Given the description of an element on the screen output the (x, y) to click on. 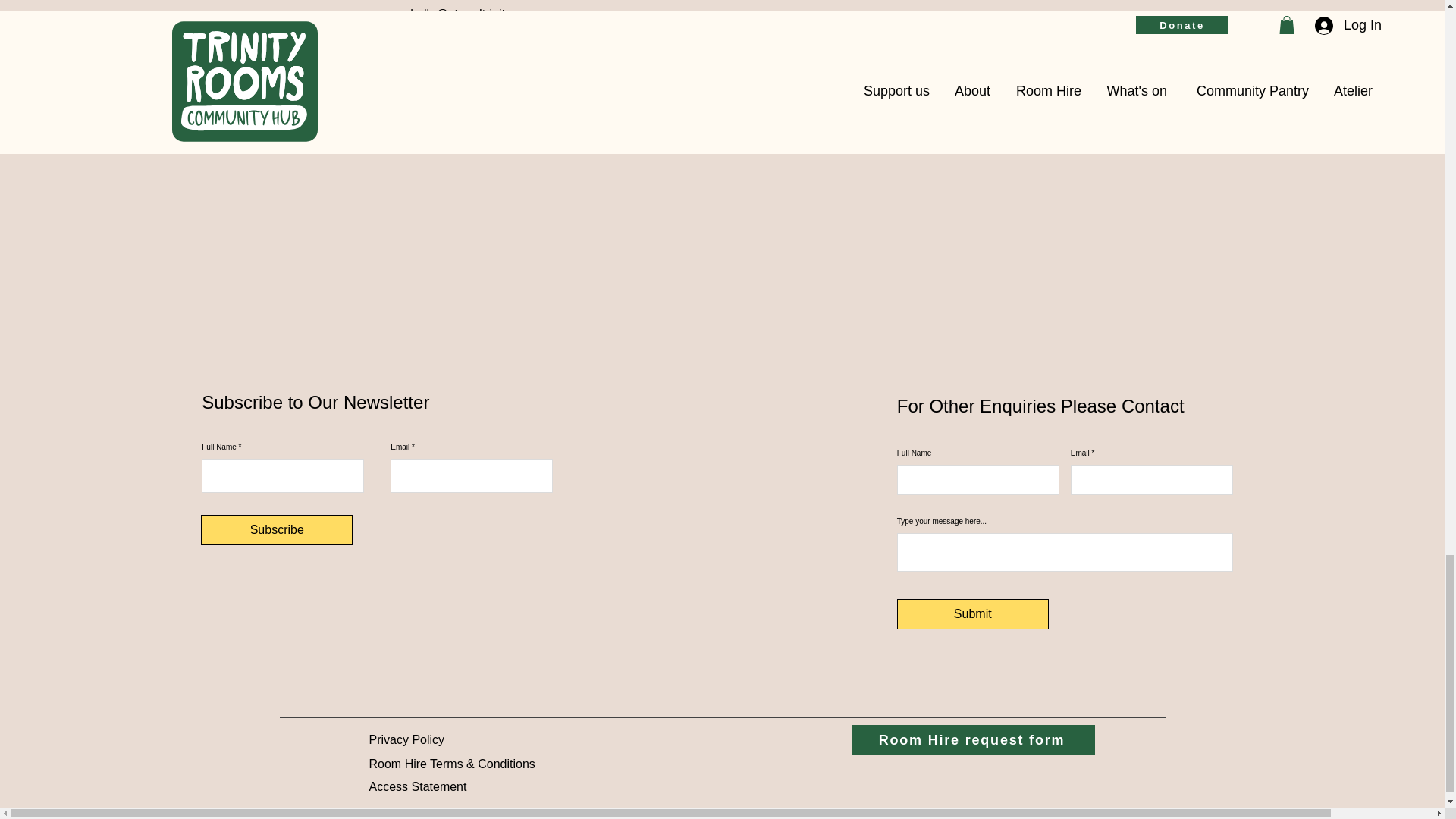
Room Hire request form (972, 739)
Subscribe (276, 530)
Privacy Policy (406, 739)
Submit (972, 613)
Access Statement (416, 786)
